Given the description of an element on the screen output the (x, y) to click on. 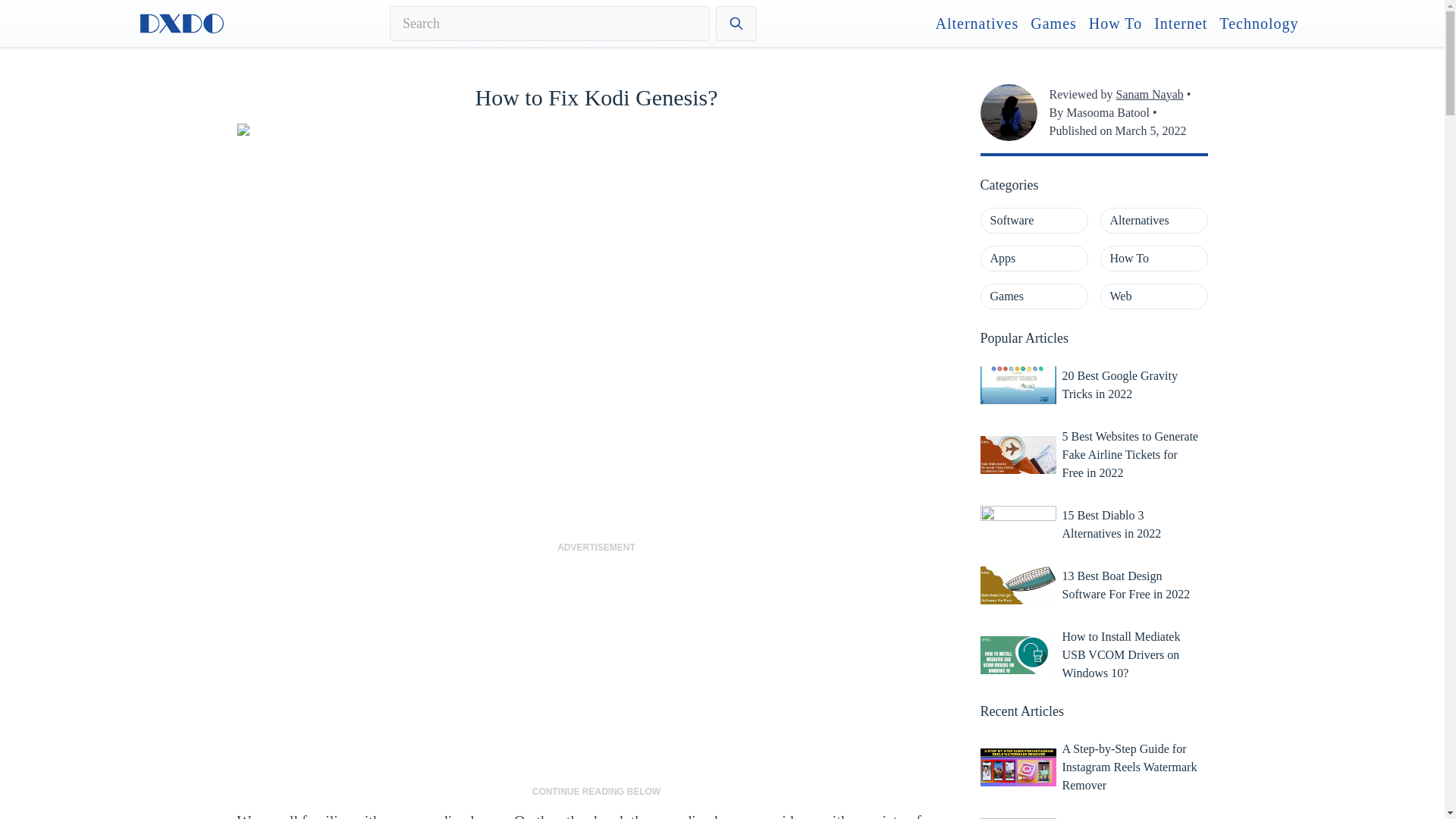
Games (1053, 23)
Software (1033, 220)
Alternatives (977, 23)
15 Best Diablo 3 Alternatives in 2022 (1131, 524)
Apps (1033, 258)
Games (1033, 296)
Technology (1259, 23)
Sanam Nayab (1148, 93)
How To (1153, 258)
20 Best Google Gravity Tricks in 2022 (1131, 385)
How To (1115, 23)
Alternatives (1153, 220)
Masooma Batool (1107, 112)
Web (1153, 296)
